Given the description of an element on the screen output the (x, y) to click on. 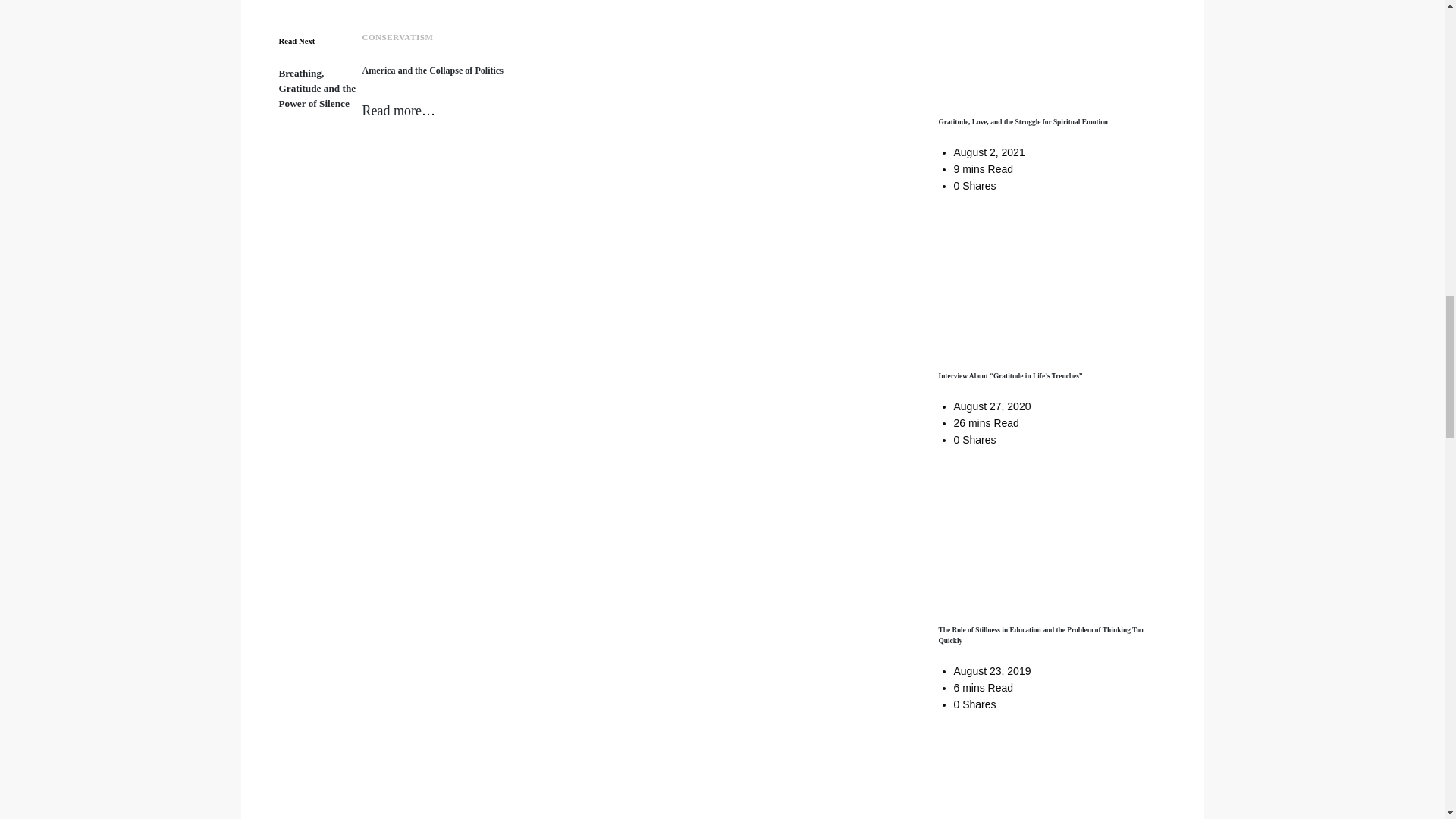
Gratitude, Love, and the Struggle for Spiritual Emotion (1023, 121)
Breathing, Gratitude and the Power of Silence (317, 87)
Gratitude, Love, and the Struggle for Spiritual Emotion (1023, 121)
Republicans Cast Doubt on Normal Operations of Human Mind (317, 87)
America and the Collapse of Politics (432, 70)
CONSERVATISM (397, 36)
Read more (392, 110)
America and the Collapse of Politics (432, 70)
